Given the description of an element on the screen output the (x, y) to click on. 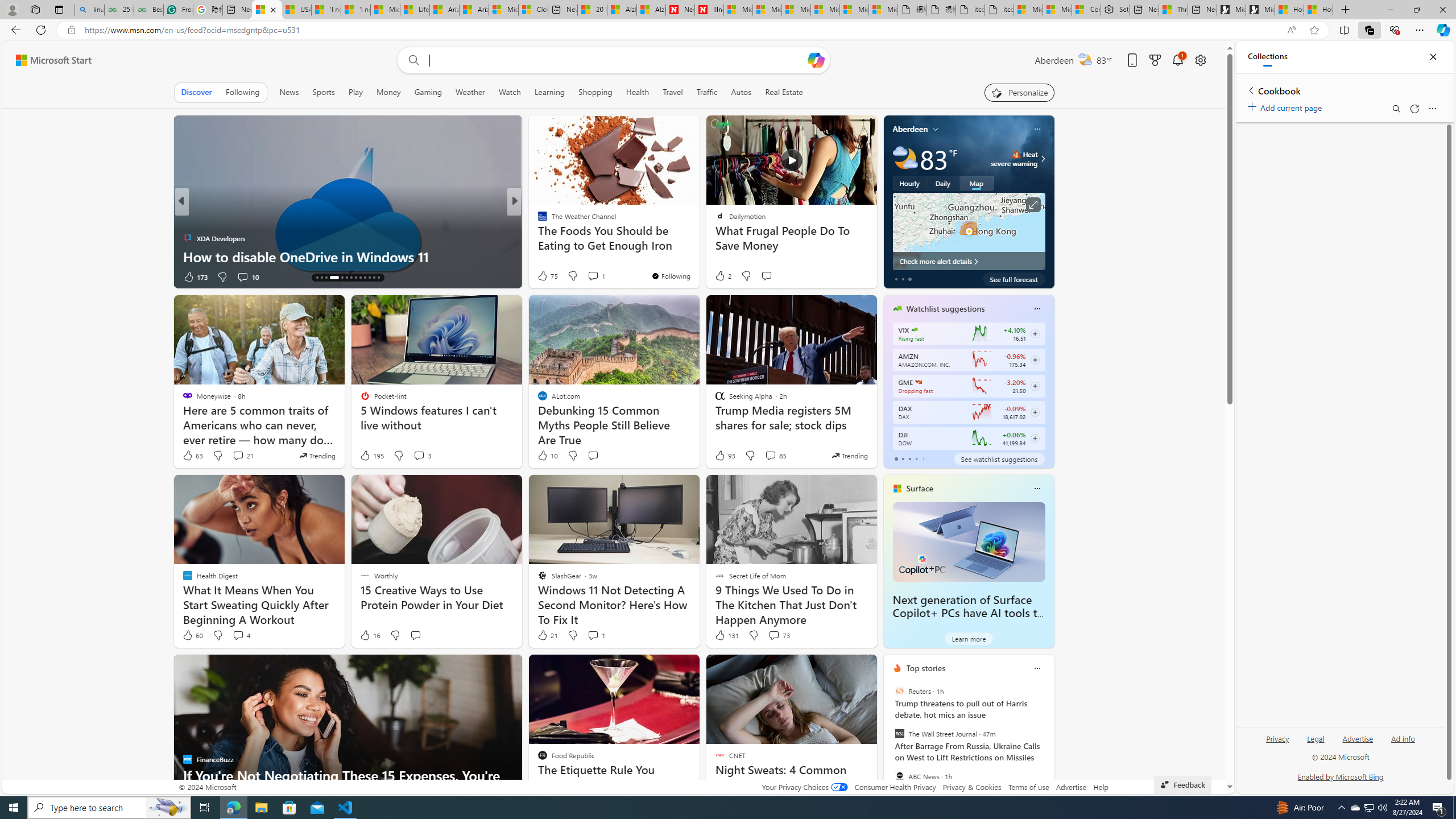
AutomationID: tab-23 (364, 277)
195 Like (370, 455)
tab-4 (923, 458)
Partly cloudy (904, 158)
38 High-Protein Breakfasts That Keep You Full (697, 256)
1k Like (543, 276)
131 Like (726, 634)
